Given the description of an element on the screen output the (x, y) to click on. 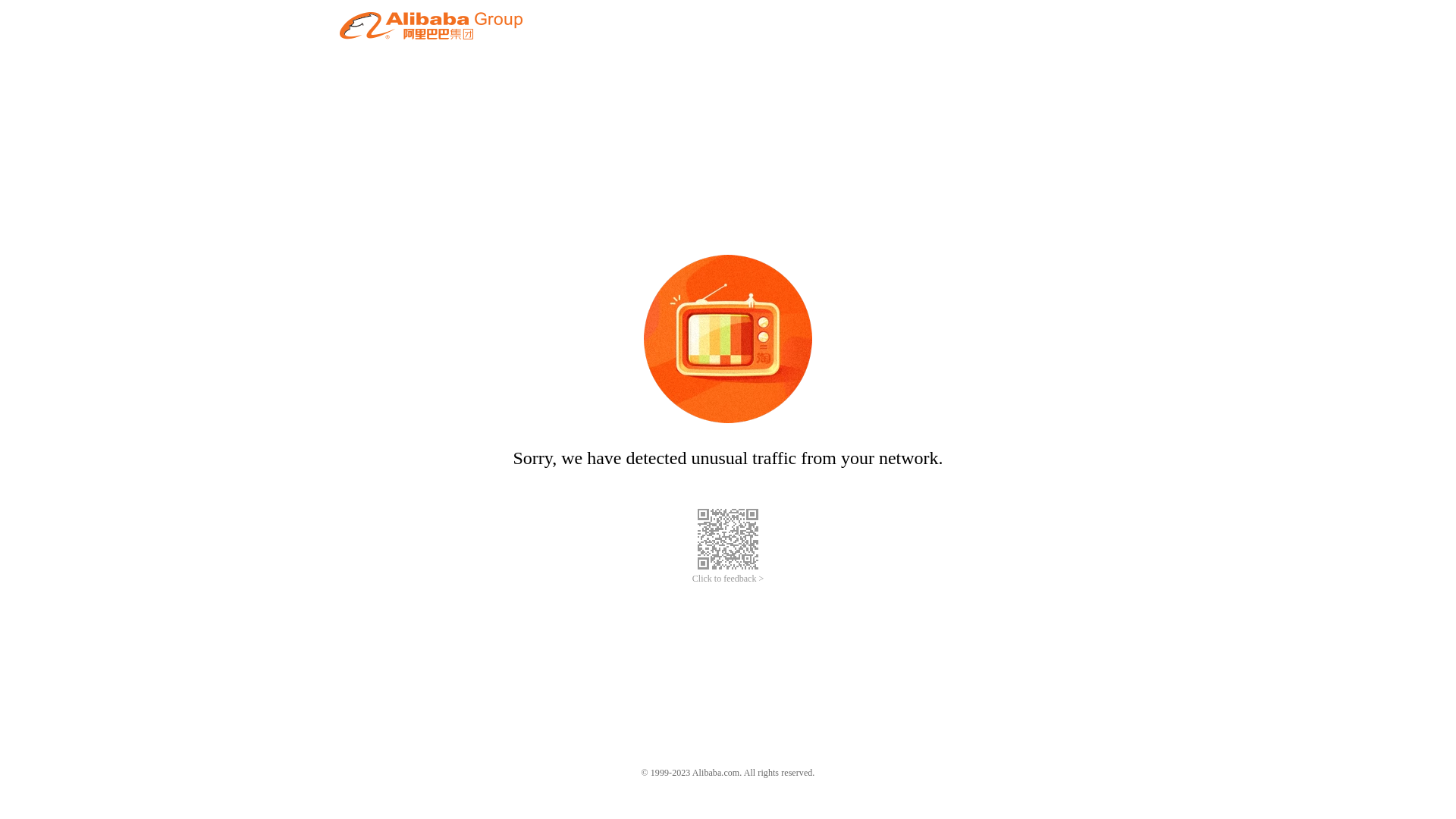
Click to feedback > Element type: text (727, 578)
